Given the description of an element on the screen output the (x, y) to click on. 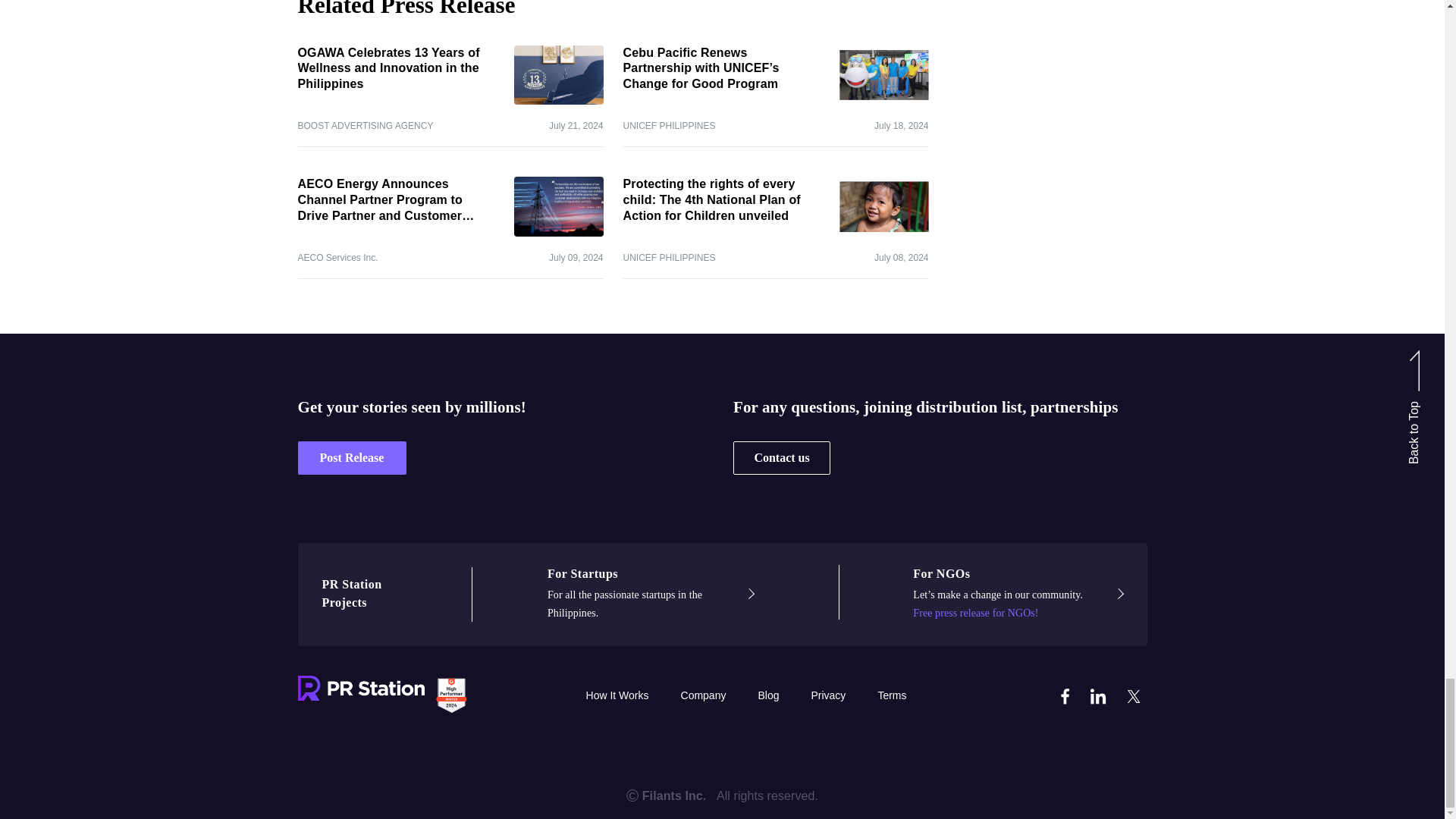
PR Station is a leader in Press Release Distribution on G2 (450, 694)
